Given the description of an element on the screen output the (x, y) to click on. 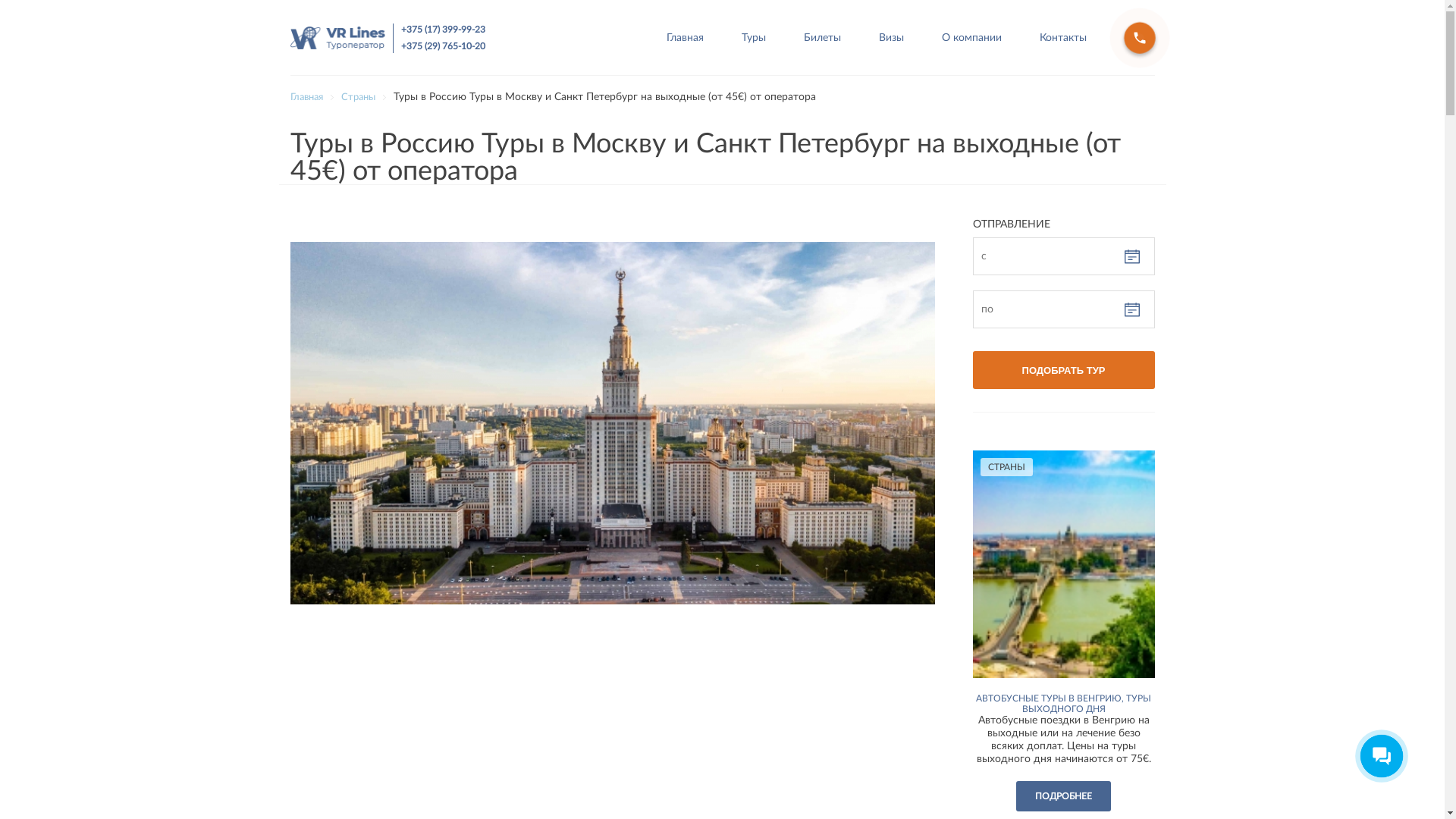
+375 (17) 399-99-23 Element type: text (442, 28)
+375 (29) 765-10-20 Element type: text (442, 45)
